Given the description of an element on the screen output the (x, y) to click on. 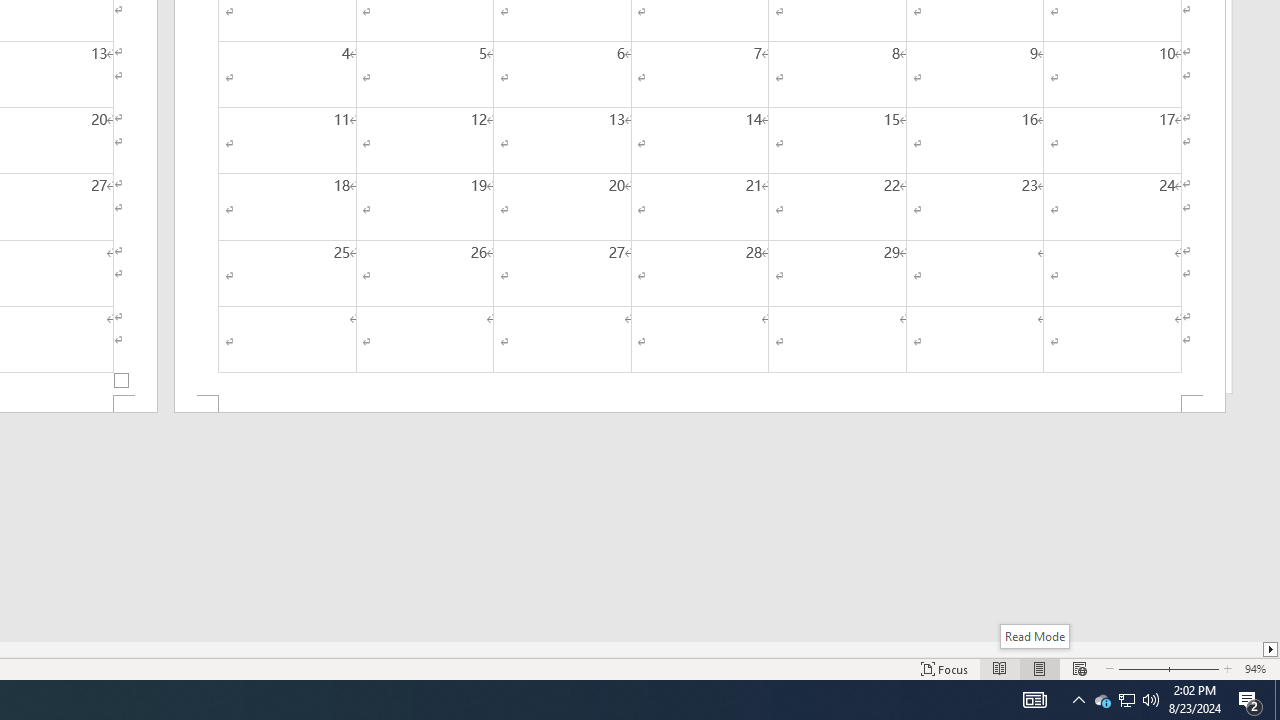
Column right (1271, 649)
Footer -Section 2- (700, 404)
